Given the description of an element on the screen output the (x, y) to click on. 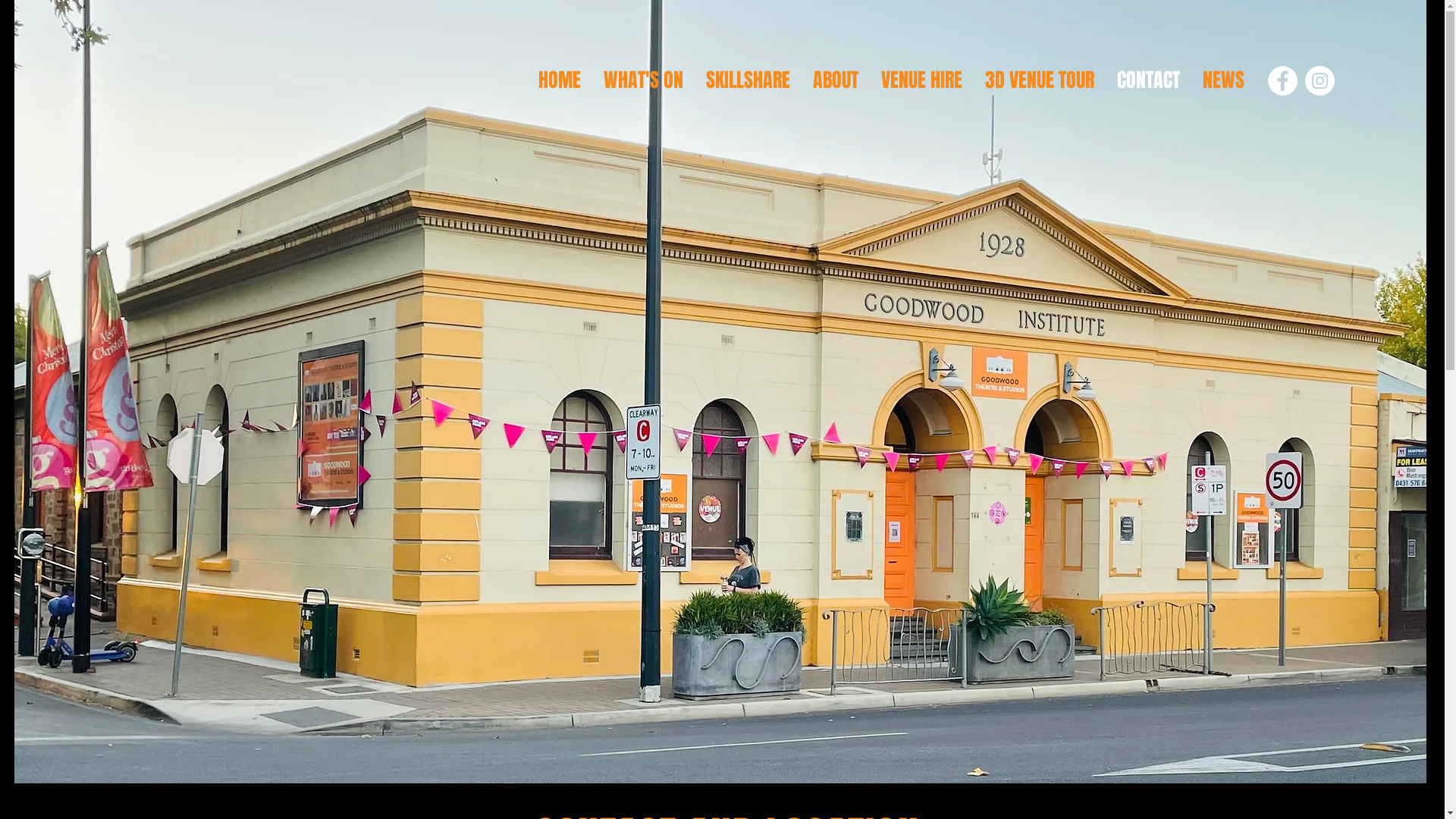
VENUE HIRE Element type: text (920, 80)
WHAT'S ON Element type: text (642, 80)
HOME Element type: text (558, 80)
ABOUT Element type: text (834, 80)
NEWS Element type: text (1222, 80)
CONTACT Element type: text (1148, 80)
SKILLSHARE Element type: text (747, 80)
3D VENUE TOUR Element type: text (1039, 80)
